Given the description of an element on the screen output the (x, y) to click on. 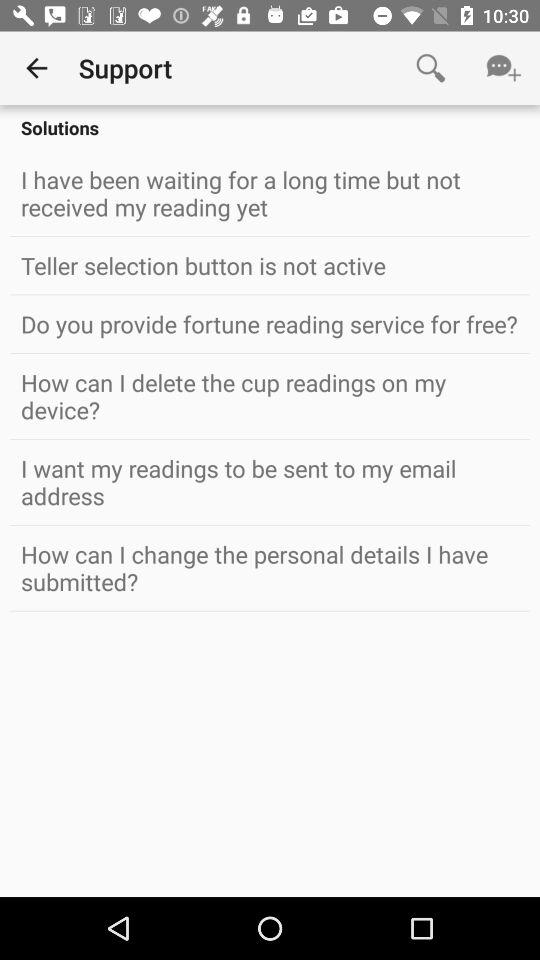
turn off the icon below the teller selection button (269, 324)
